Given the description of an element on the screen output the (x, y) to click on. 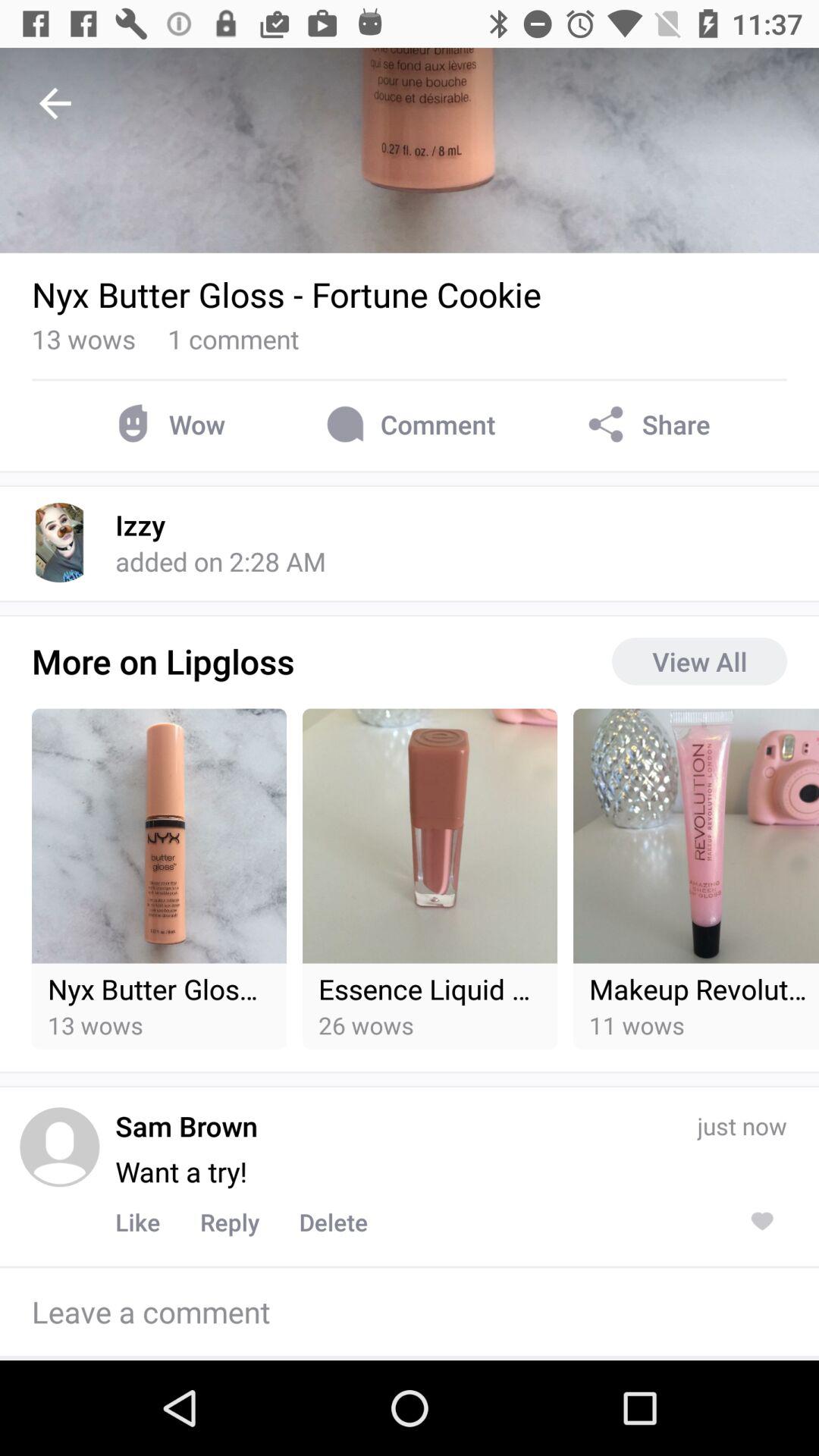
choose icon to the right of reply item (333, 1221)
